Given the description of an element on the screen output the (x, y) to click on. 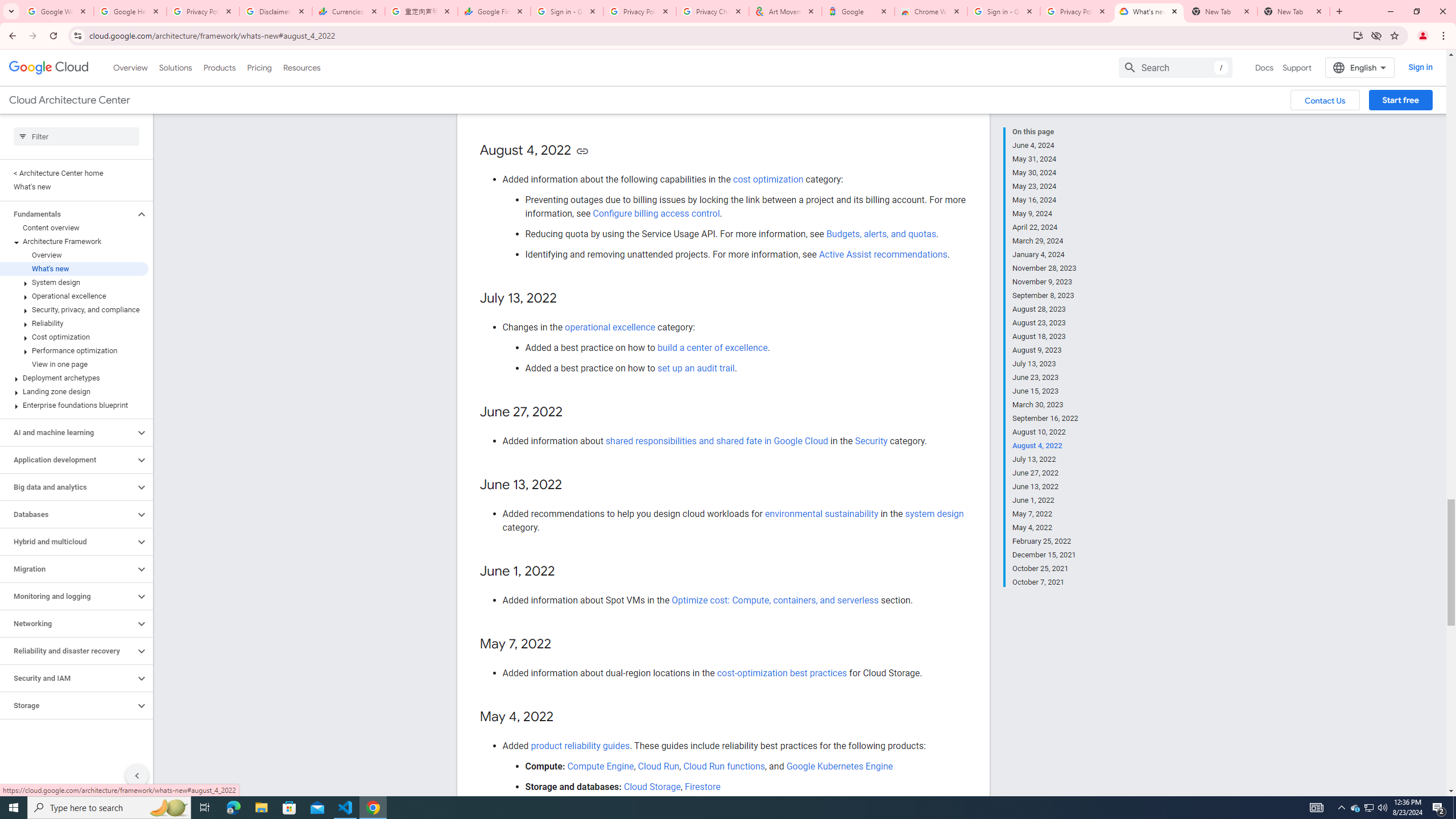
June 1, 2022 (1044, 499)
Firestore (702, 786)
March 29, 2024 (1044, 241)
Networking (67, 623)
May 9, 2024 (1044, 213)
Currencies - Google Finance (348, 11)
Big data and analytics (67, 486)
Cost optimization (74, 336)
Pricing (259, 67)
May 16, 2024 (1044, 200)
build a center of excellence (712, 347)
